Given the description of an element on the screen output the (x, y) to click on. 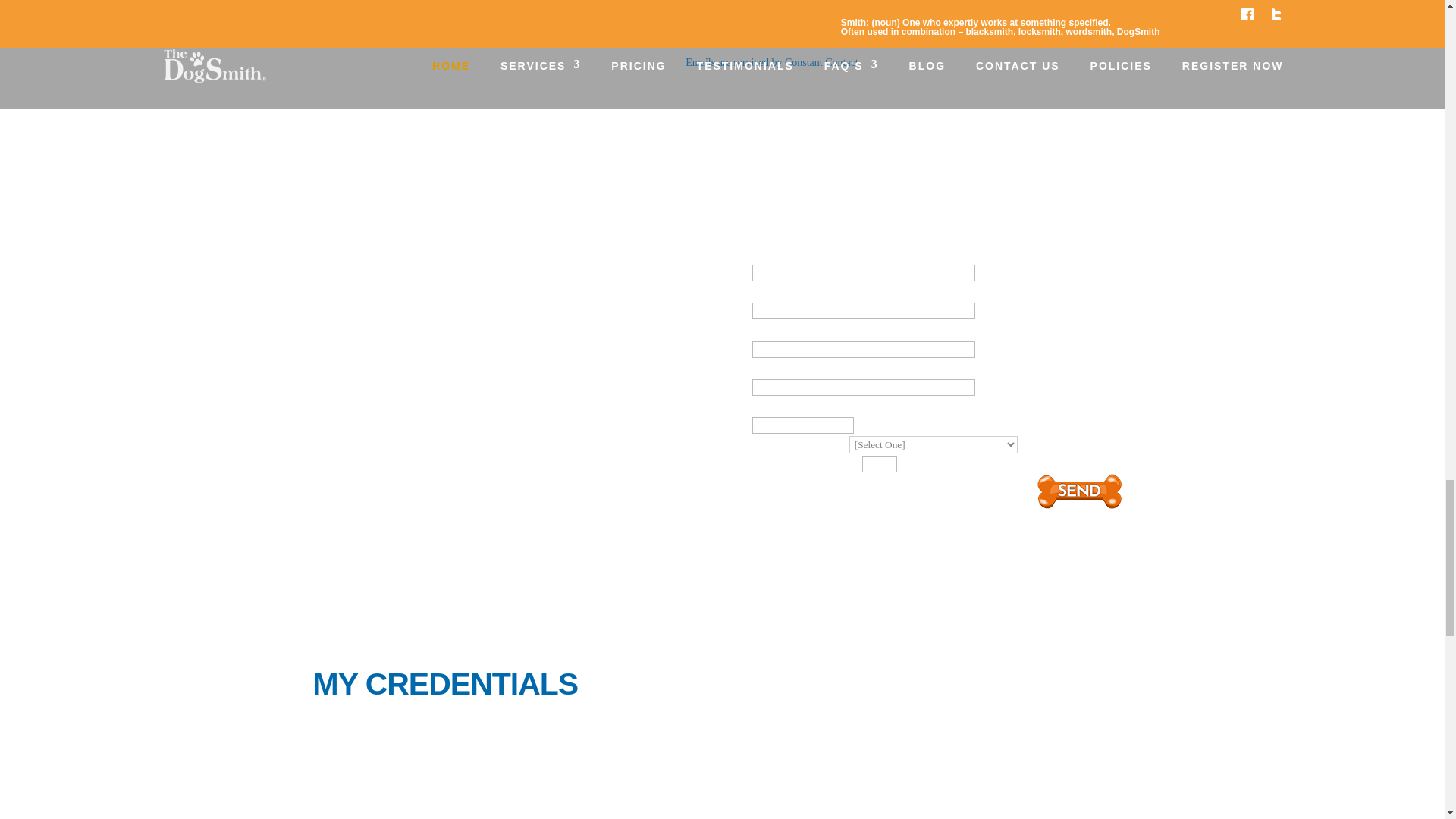
Sign up (721, 4)
Emails are serviced by Constant Contact (771, 61)
Sign up (721, 4)
